Given the description of an element on the screen output the (x, y) to click on. 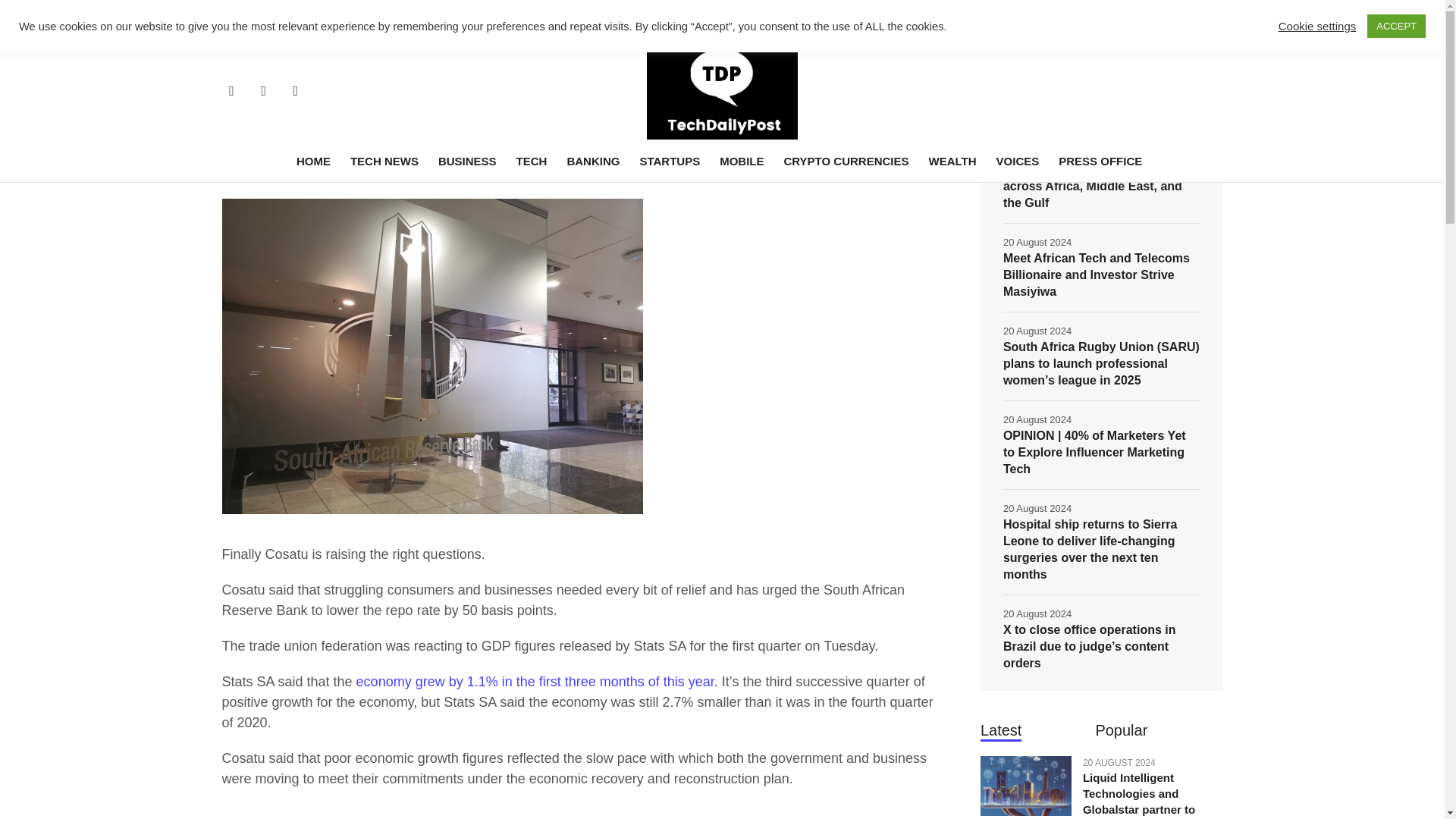
MOBILE (741, 160)
TECH (531, 160)
0 (932, 175)
VOICES (1018, 160)
STARTUPS (669, 160)
BANKING (252, 55)
BUSINESS (467, 160)
PRESS OFFICE (1099, 160)
CRYPTO CURRENCIES (845, 160)
